Given the description of an element on the screen output the (x, y) to click on. 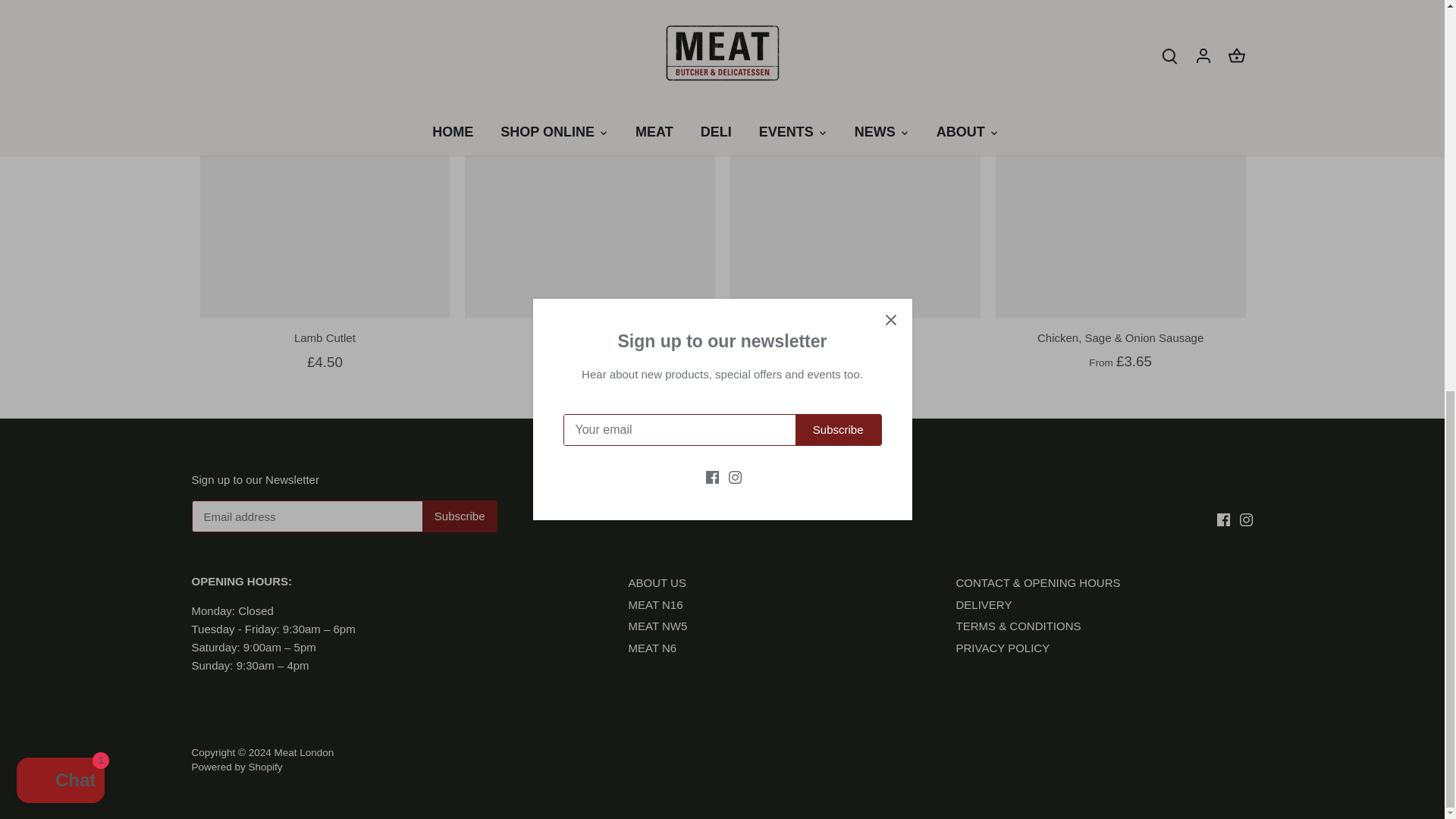
Shopify online store chat (60, 34)
Facebook (1223, 519)
Subscribe (459, 516)
Instagram (1246, 519)
